Given the description of an element on the screen output the (x, y) to click on. 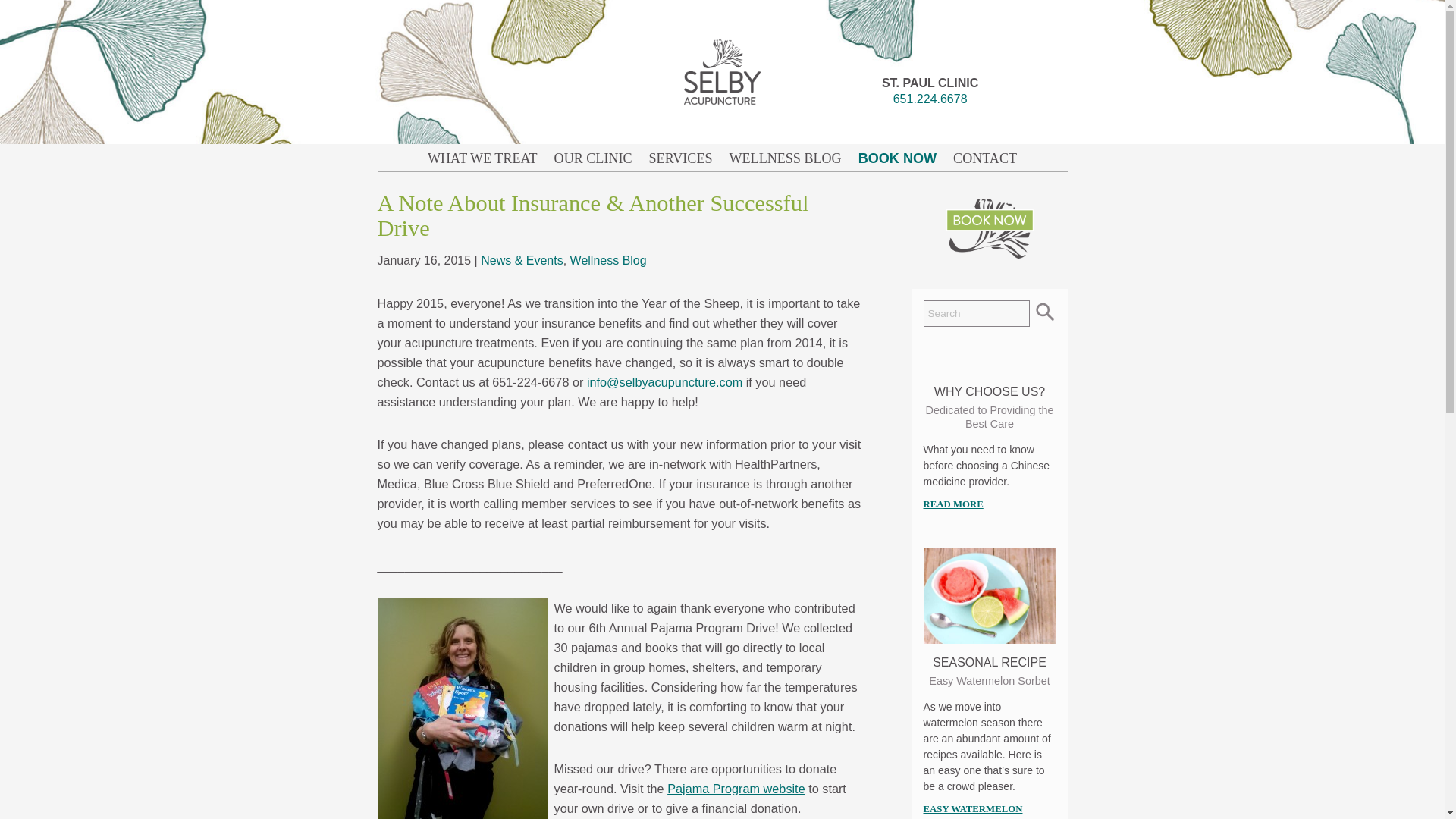
WHY CHOOSE US? (933, 631)
FACIAL REJUVENATION (933, 470)
ACUPUNCTURE (933, 156)
MASSAGE (933, 186)
Our Clinic (593, 158)
BOOK NOW (933, 126)
WHAT WE TREAT (482, 158)
Wellness Blog (785, 158)
FERTILITY (933, 287)
CANCER CARE (933, 409)
